Given the description of an element on the screen output the (x, y) to click on. 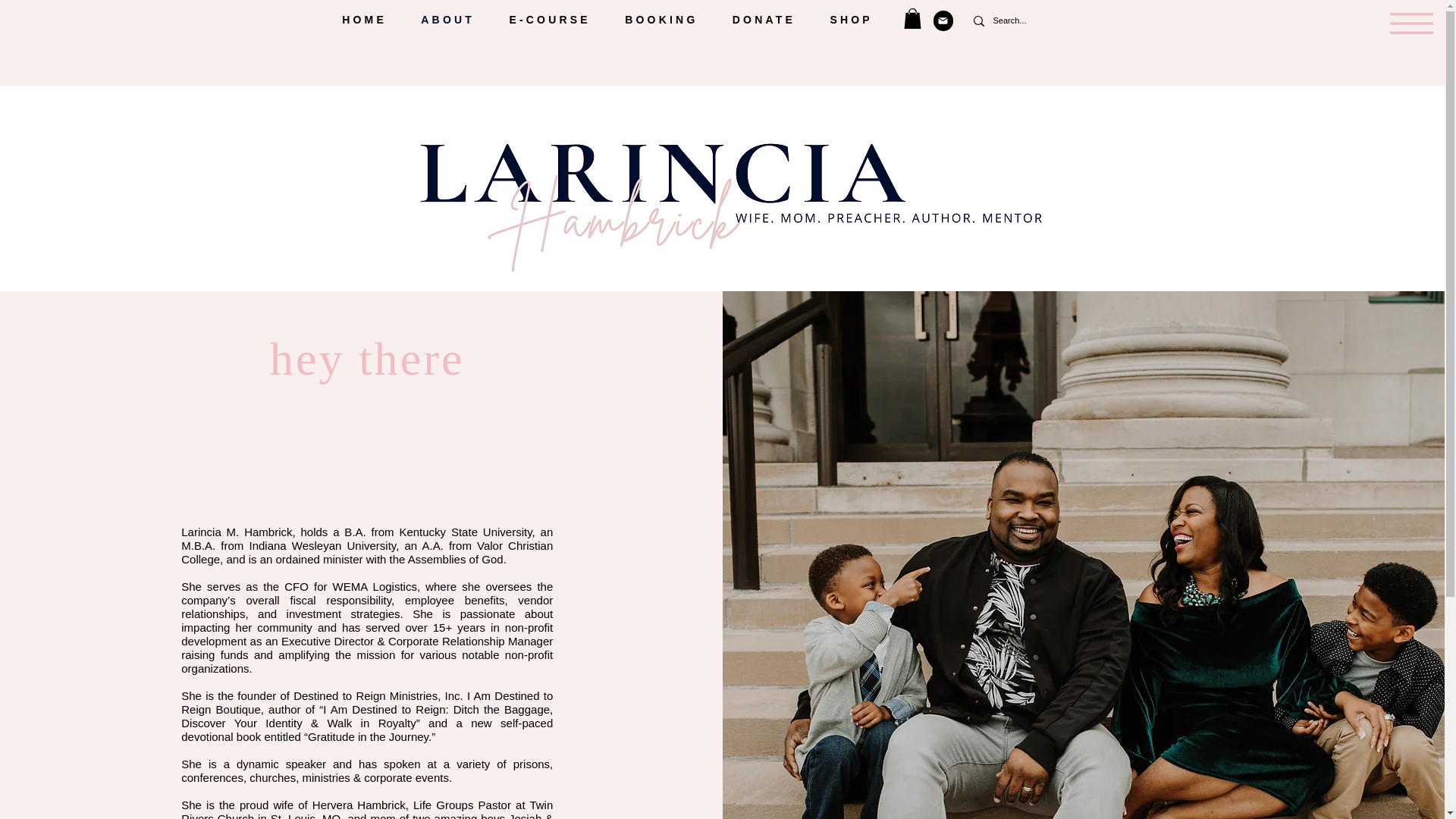
BOOKING (662, 19)
DONATE (763, 19)
E-COURSE (550, 19)
HOME (363, 19)
SHOP (850, 19)
ABOUT (448, 19)
